Given the description of an element on the screen output the (x, y) to click on. 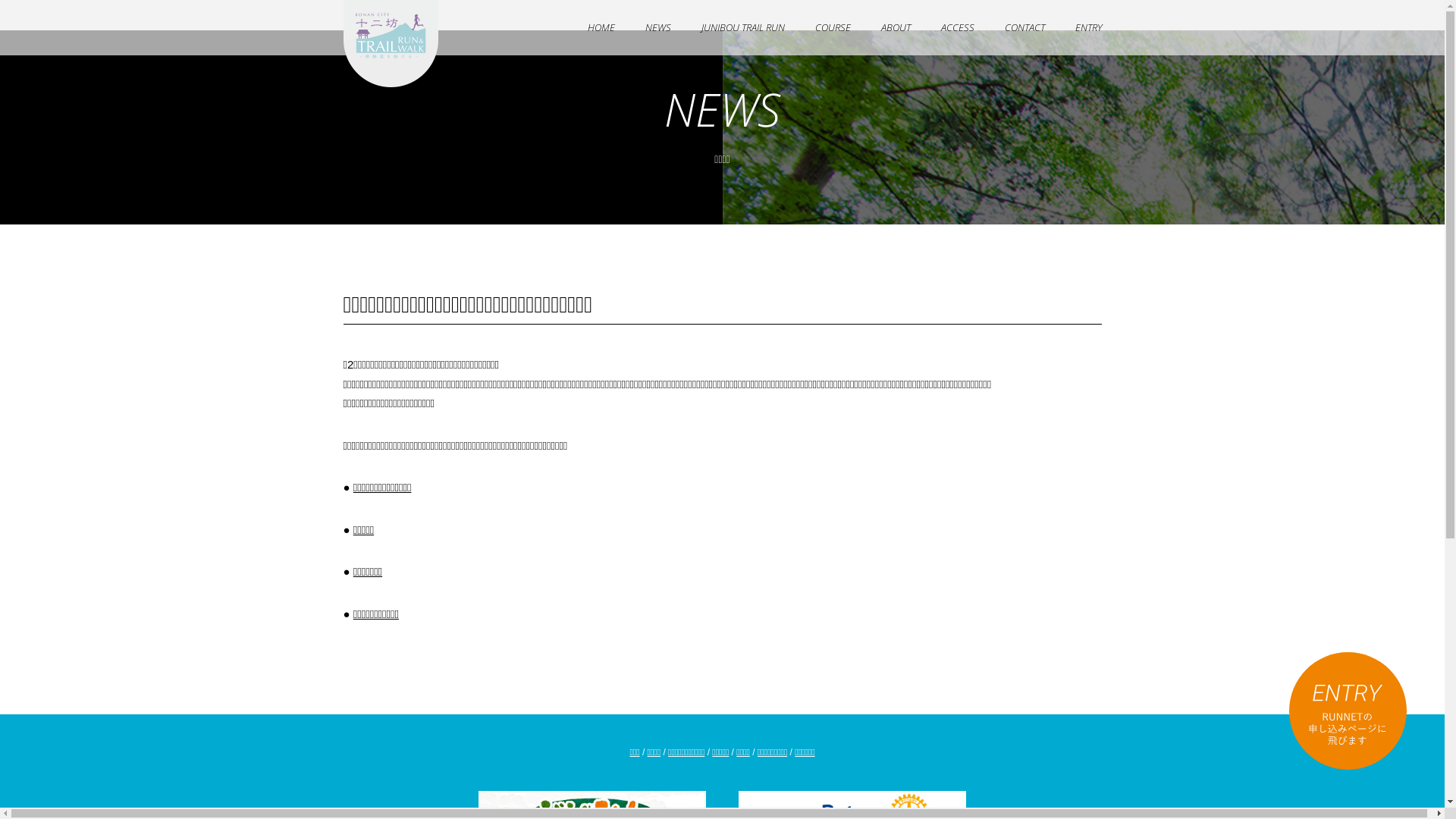
ABOUT Element type: text (895, 27)
JUNIBOU TRAIL RUN Element type: text (742, 27)
NEWS Element type: text (657, 27)
ACCESS Element type: text (956, 27)
COURSE Element type: text (832, 27)
ENTRY Element type: text (1088, 27)
HOME Element type: text (600, 27)
CONTACT Element type: text (1024, 27)
